Given the description of an element on the screen output the (x, y) to click on. 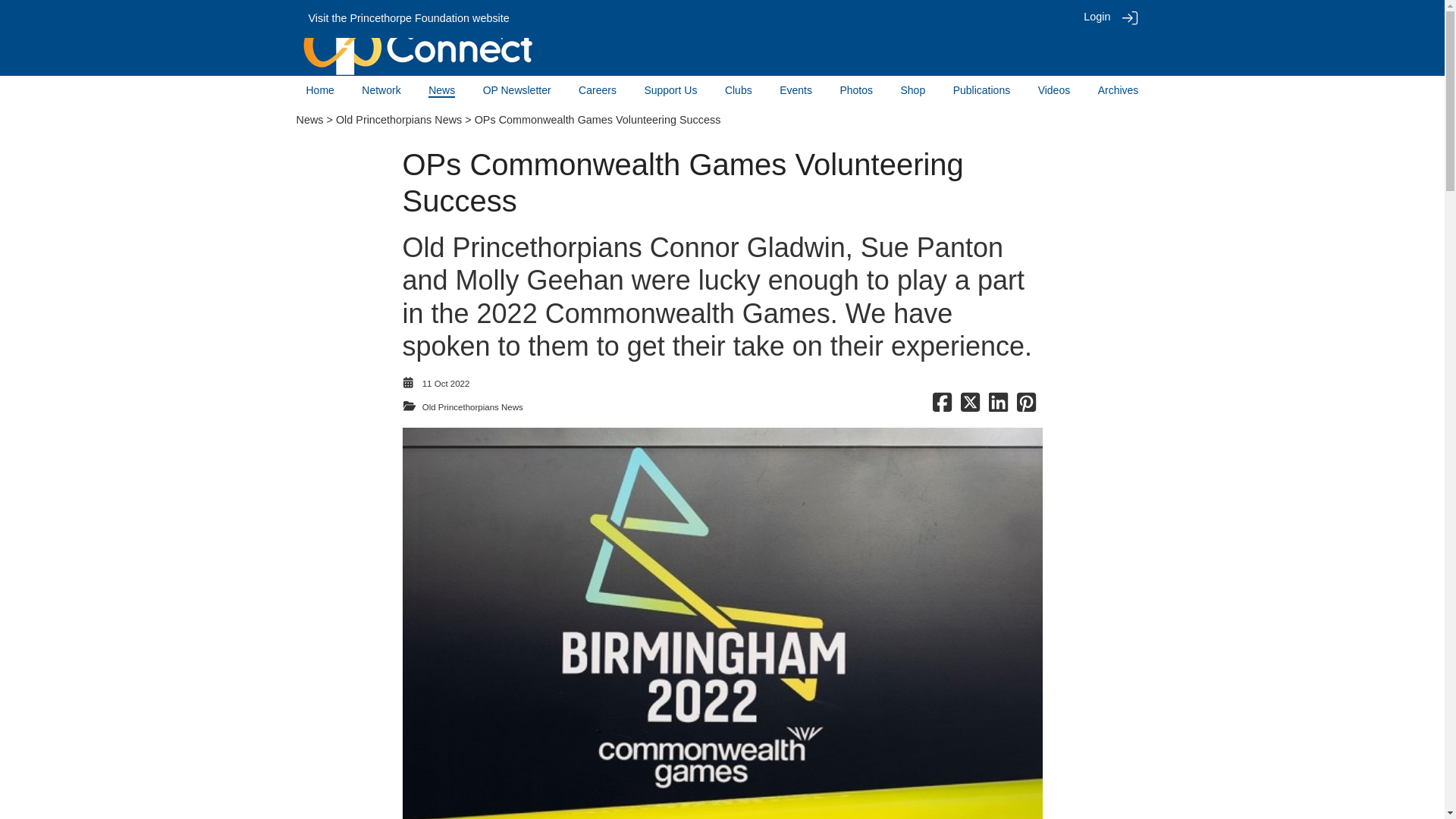
OP Newsletter (517, 90)
Share on Pinterest (1025, 407)
Careers (596, 90)
Videos (1054, 90)
Events (795, 90)
News (441, 90)
Network (380, 90)
Photos (856, 90)
Share on Twitter (969, 407)
Share on LinkedIn (997, 407)
